Given the description of an element on the screen output the (x, y) to click on. 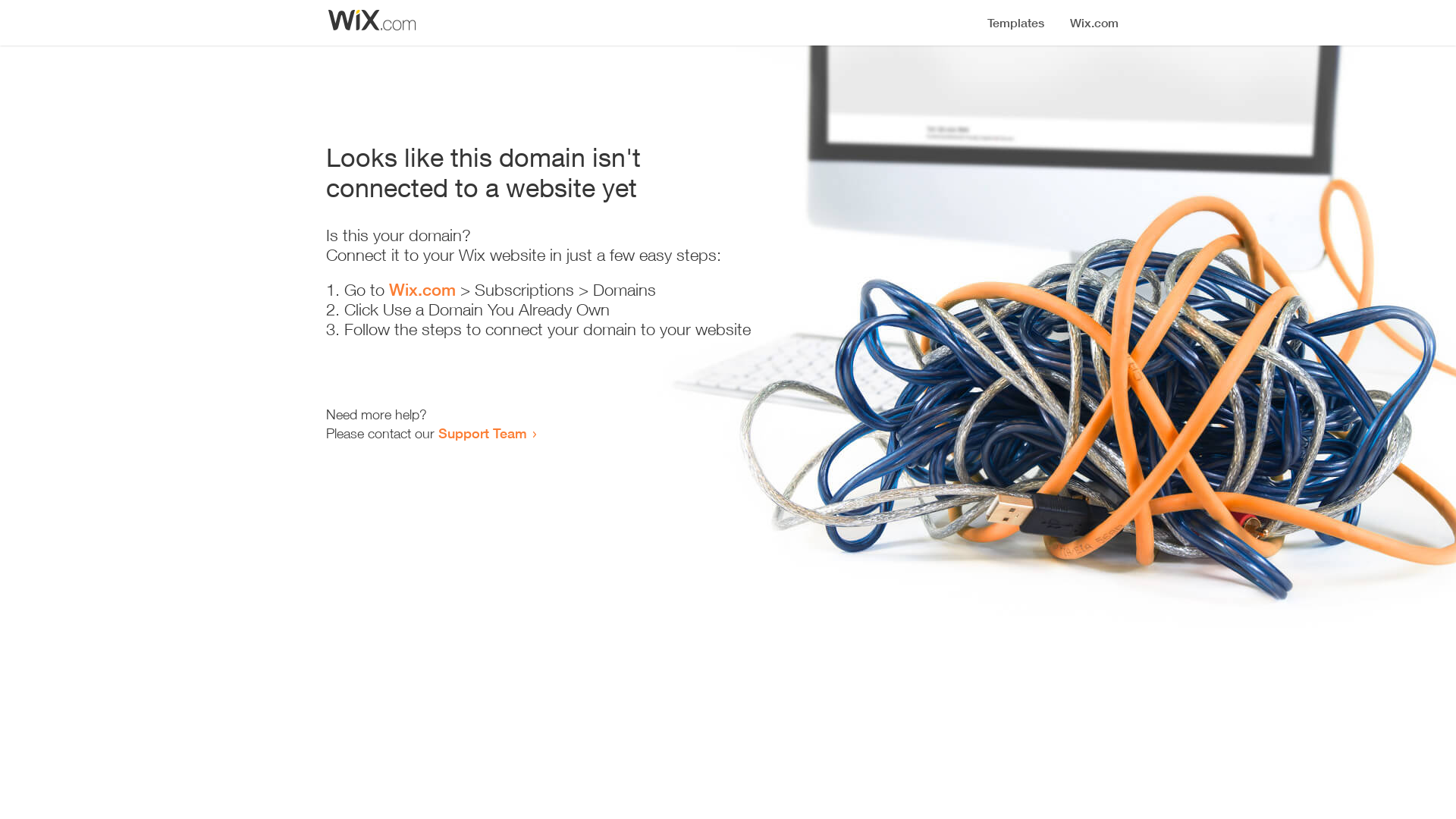
Support Team Element type: text (482, 432)
Wix.com Element type: text (422, 289)
